Given the description of an element on the screen output the (x, y) to click on. 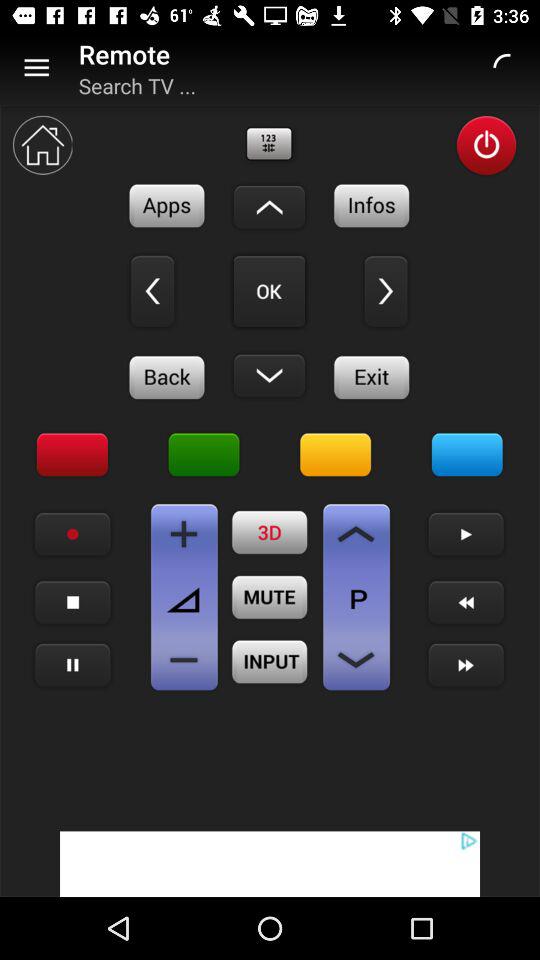
mute button (269, 597)
